Given the description of an element on the screen output the (x, y) to click on. 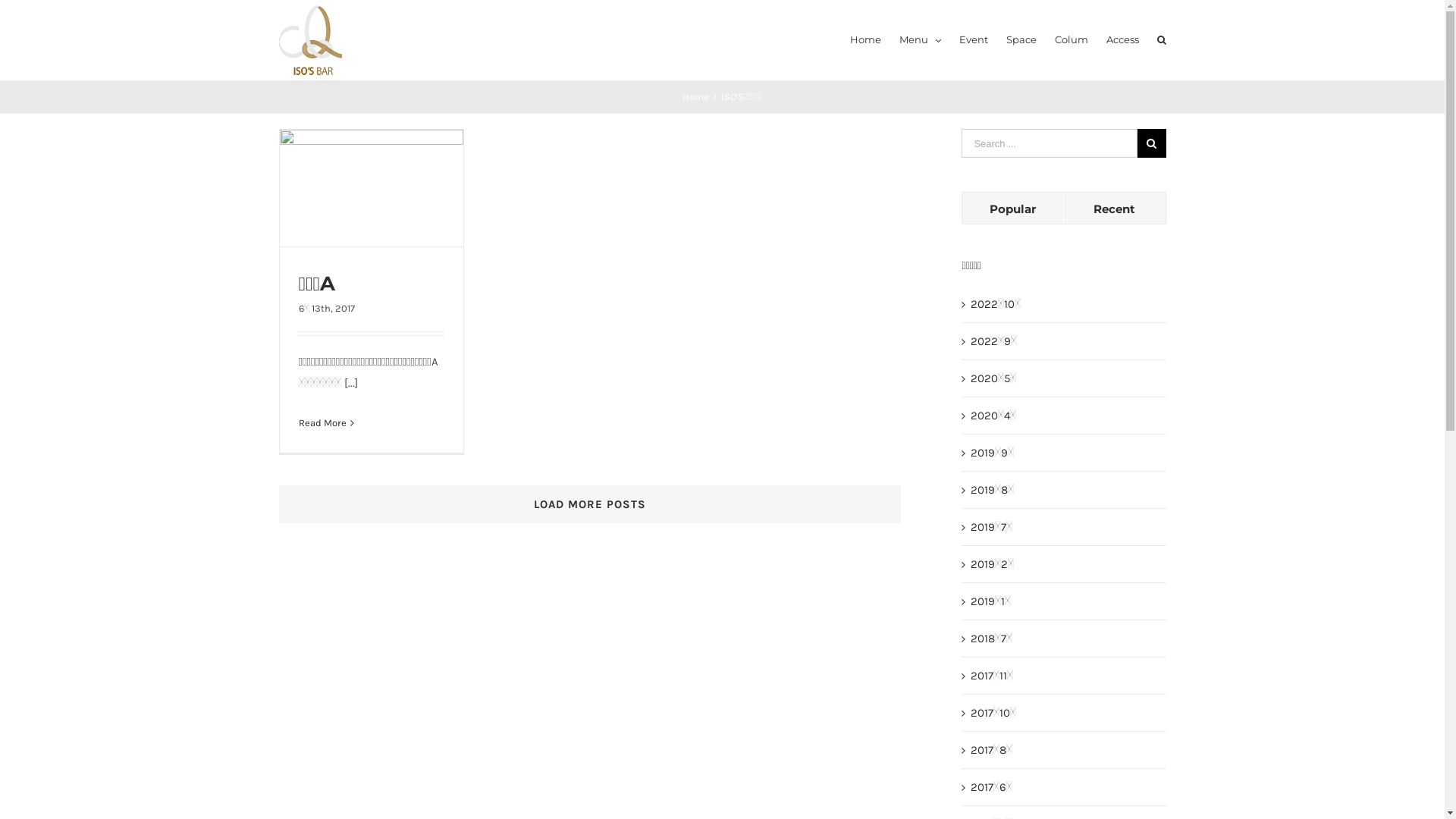
Space Element type: text (1020, 38)
Event Element type: text (972, 38)
Popular Element type: text (1012, 207)
Colum Element type: text (1070, 38)
Home Element type: text (864, 38)
Home Element type: text (695, 96)
Access Element type: text (1121, 38)
Menu Element type: text (920, 38)
Recent Element type: text (1114, 207)
Read More Element type: text (322, 422)
